Given the description of an element on the screen output the (x, y) to click on. 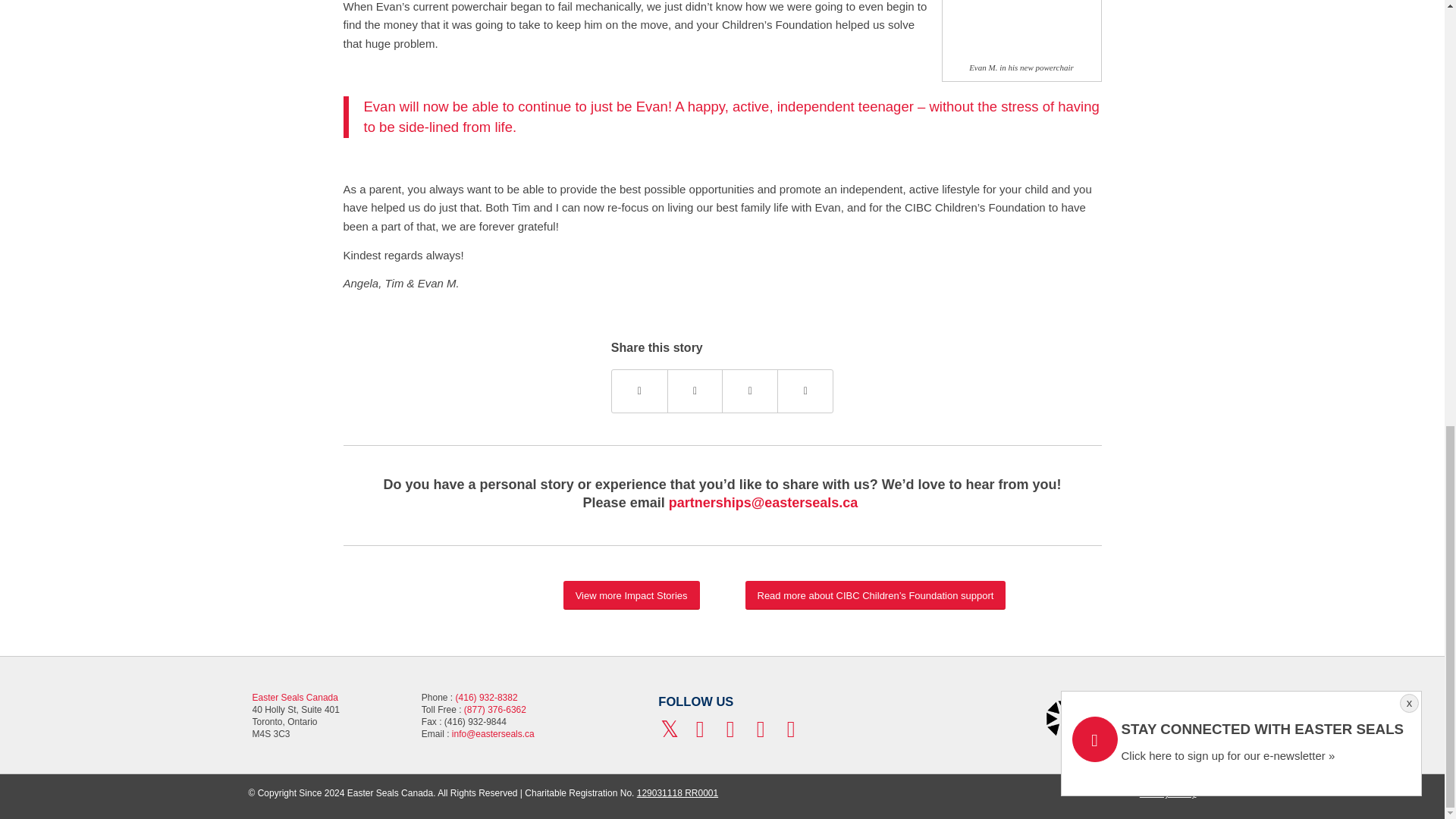
Youtube (730, 729)
Facebook (699, 729)
X (669, 729)
Instagram (760, 729)
View more Impact Stories (631, 595)
